Given the description of an element on the screen output the (x, y) to click on. 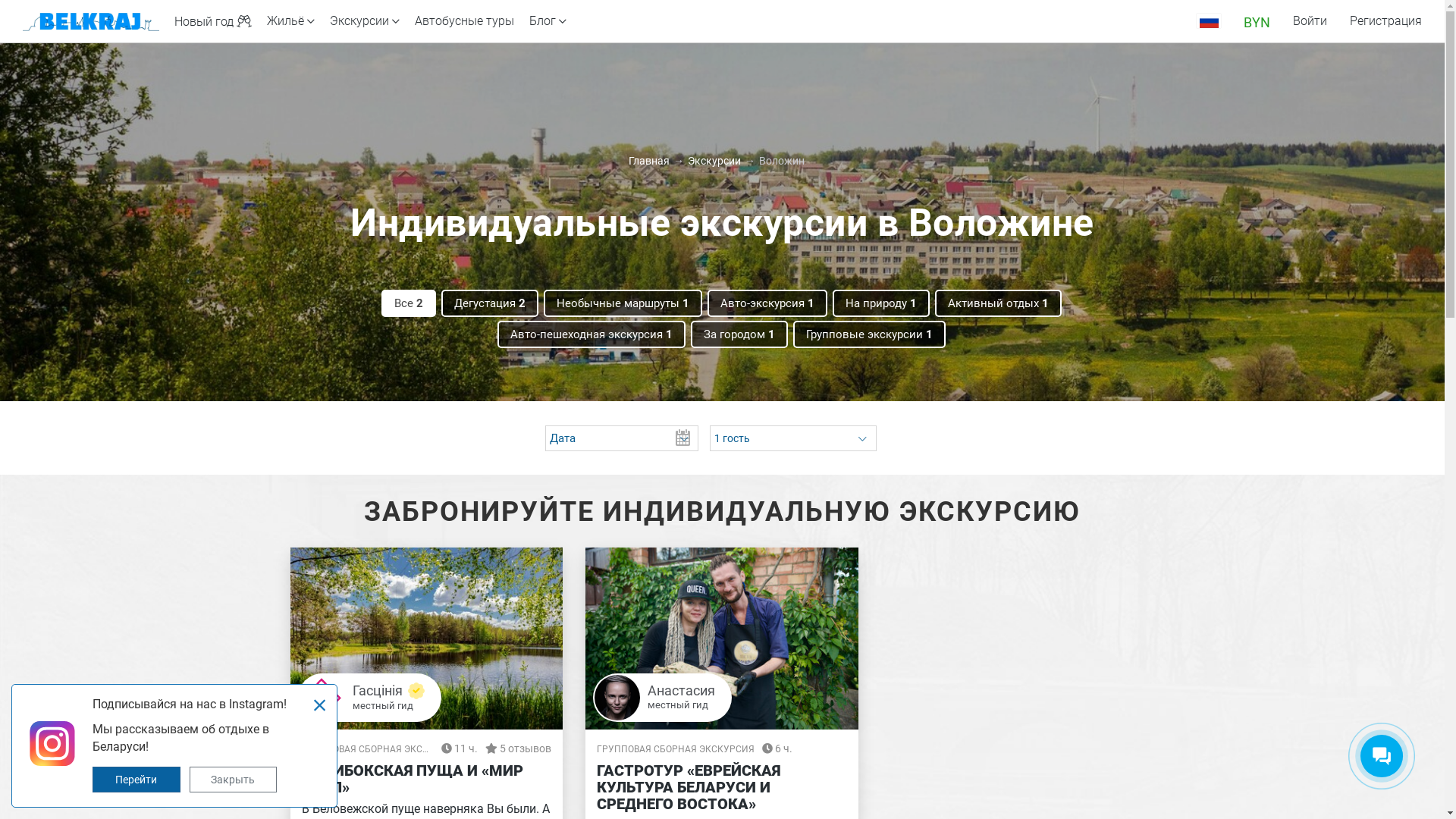
BYN Element type: text (1256, 20)
